Given the description of an element on the screen output the (x, y) to click on. 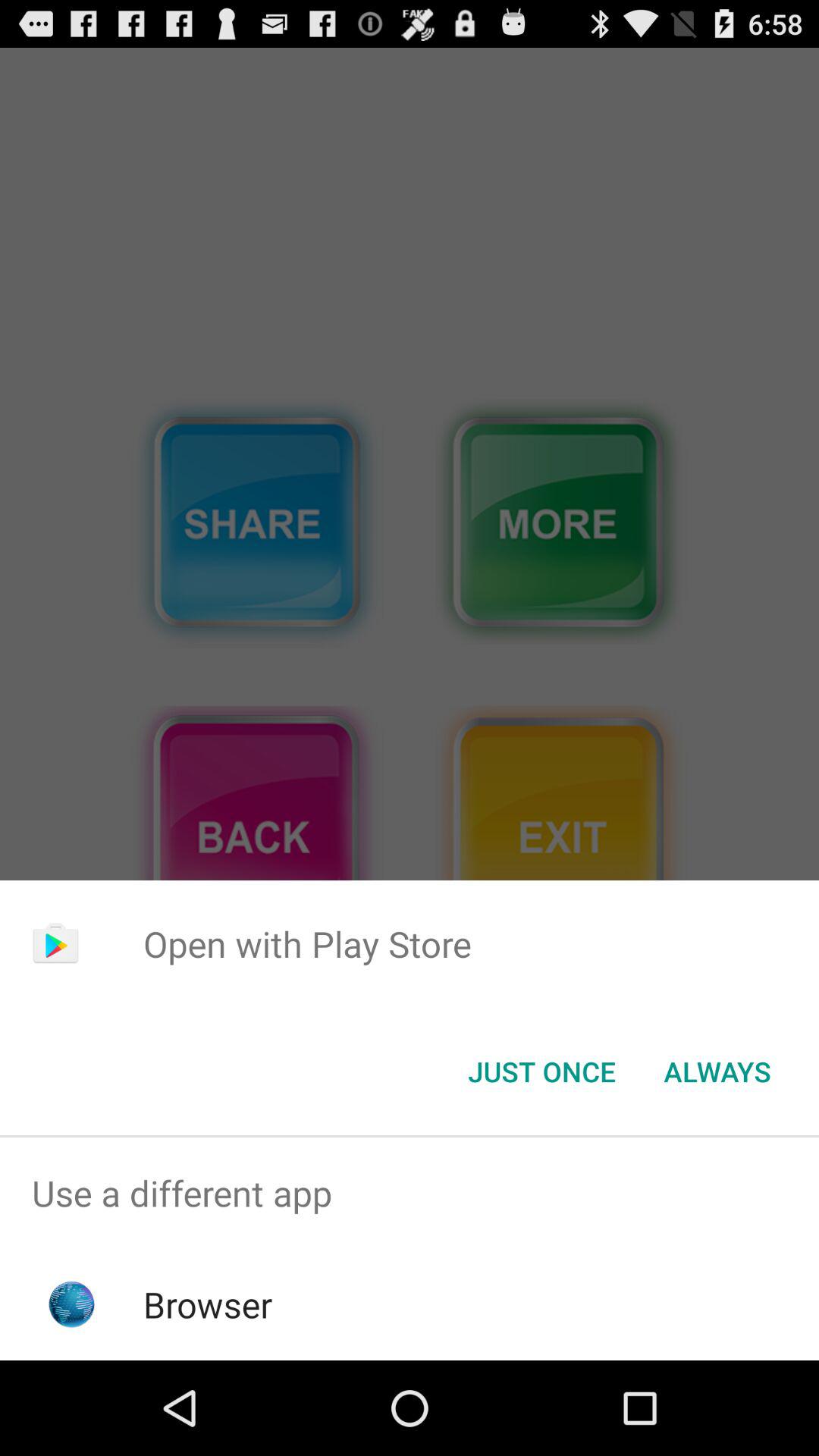
launch the button at the bottom right corner (717, 1071)
